Given the description of an element on the screen output the (x, y) to click on. 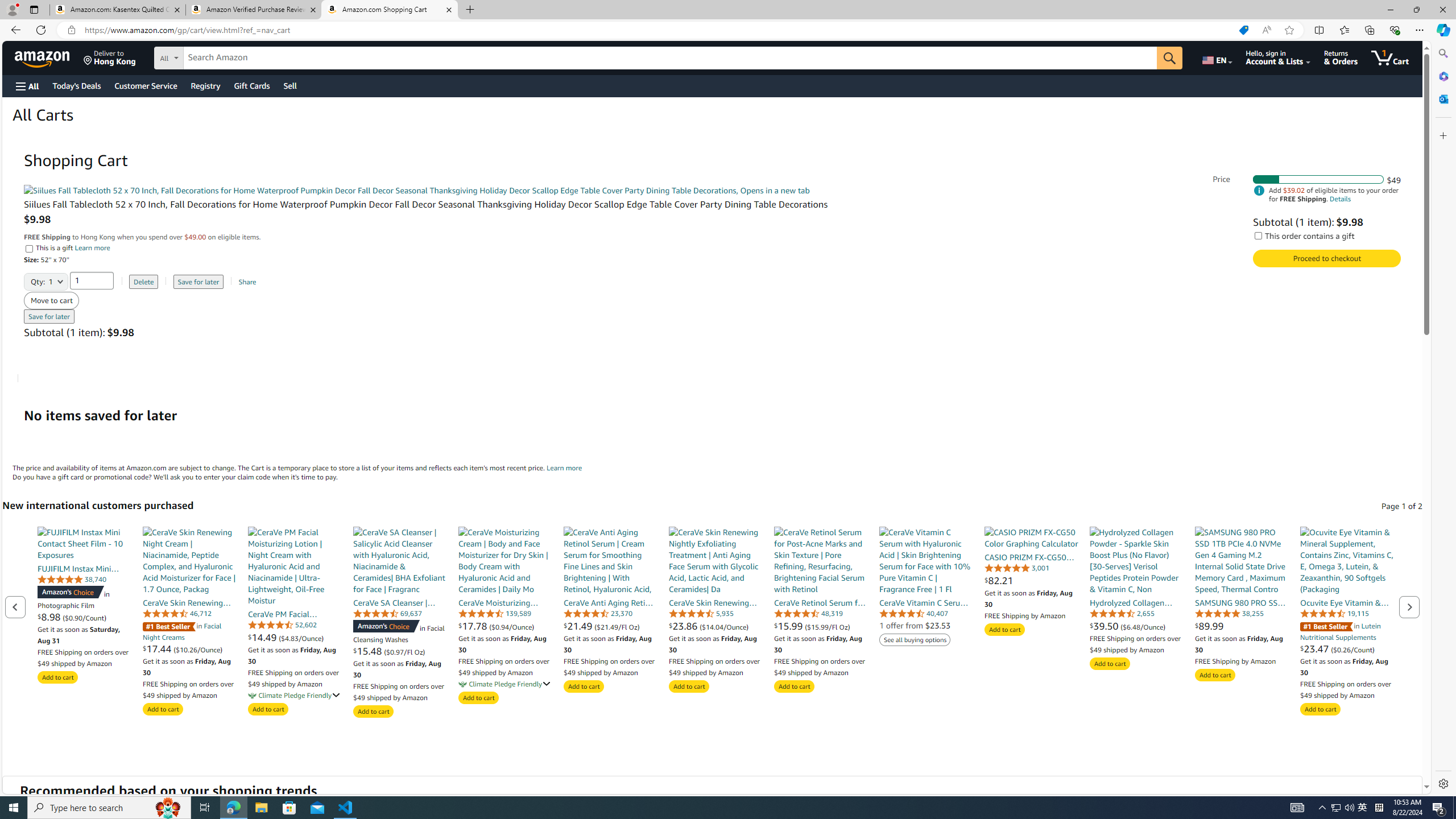
Previous page (15, 606)
Customer Service (145, 85)
$23.86  (684, 625)
$23.47  (1315, 648)
Search Amazon (670, 57)
